Given the description of an element on the screen output the (x, y) to click on. 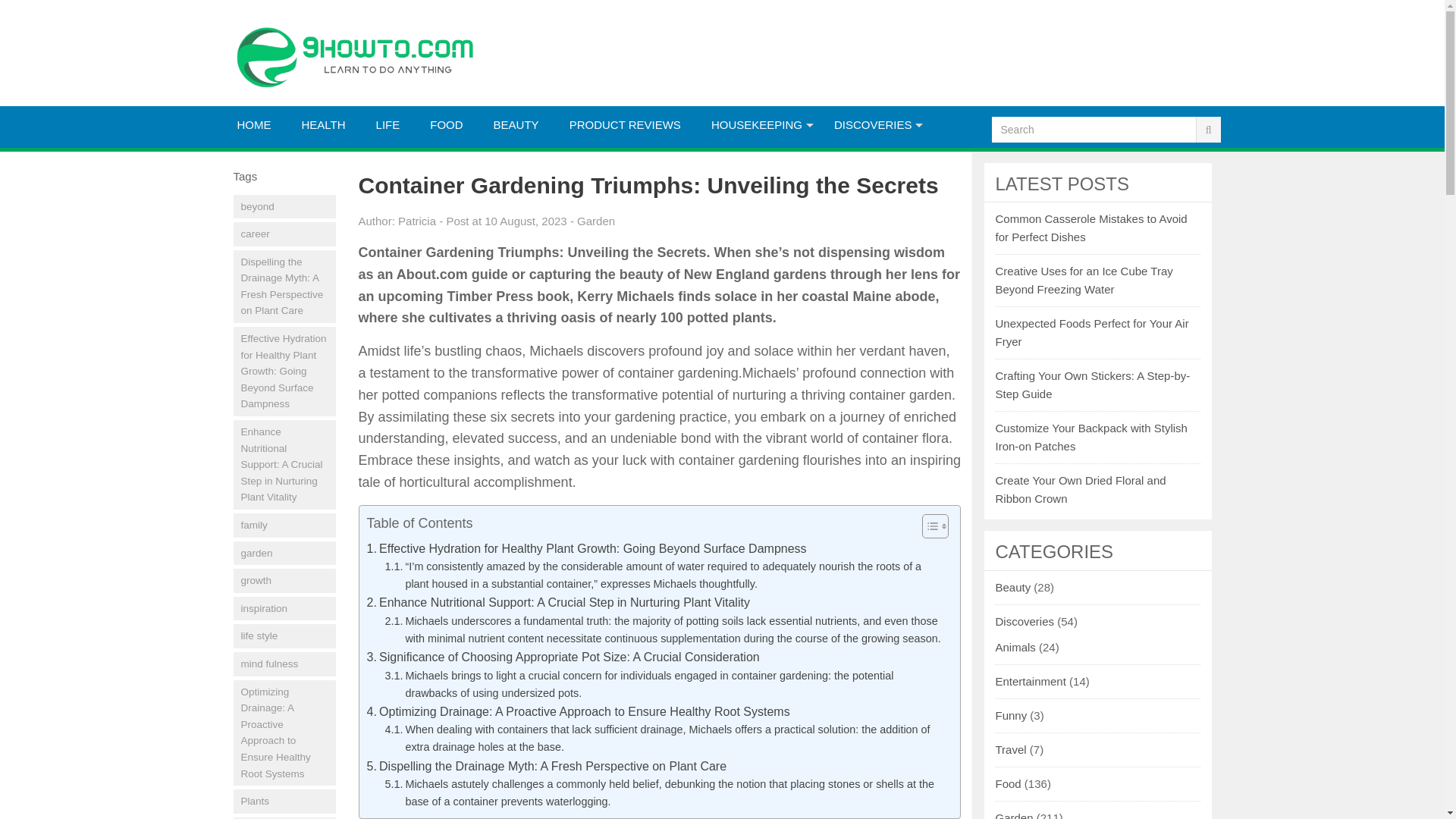
FOOD (445, 125)
HEALTH (323, 125)
inspiration (284, 608)
Plants (284, 801)
life style (284, 636)
HOUSEKEEPING (756, 125)
